Given the description of an element on the screen output the (x, y) to click on. 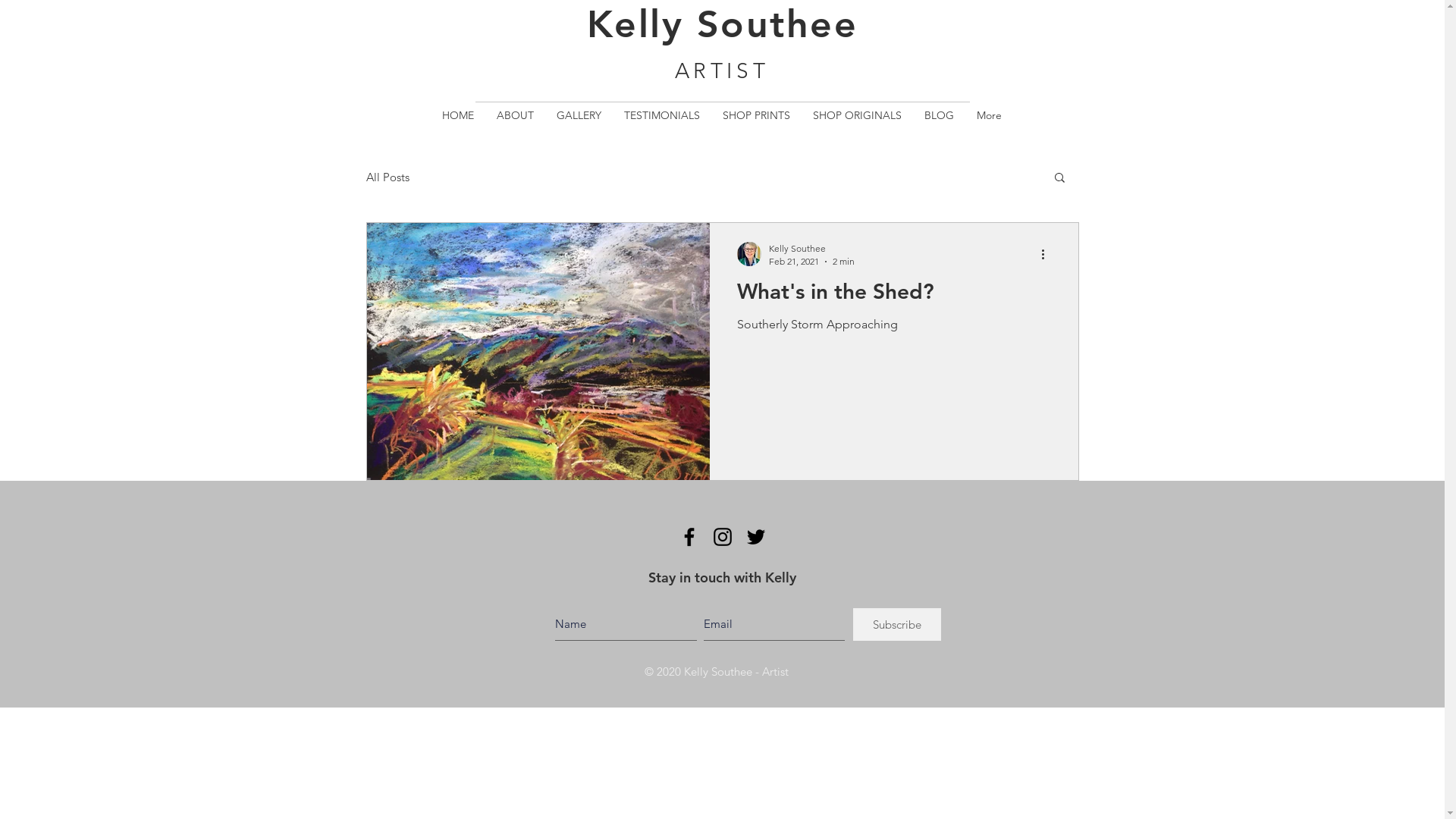
Kelly Southee Element type: text (811, 248)
SHOP ORIGINALS Element type: text (857, 127)
ABOUT Element type: text (515, 127)
SHOP PRINTS Element type: text (756, 127)
GALLERY Element type: text (578, 127)
TESTIMONIALS Element type: text (661, 127)
Subscribe Element type: text (896, 624)
What's in the Shed? Element type: text (894, 295)
All Posts Element type: text (386, 176)
HOME Element type: text (457, 127)
BLOG Element type: text (939, 127)
